Given the description of an element on the screen output the (x, y) to click on. 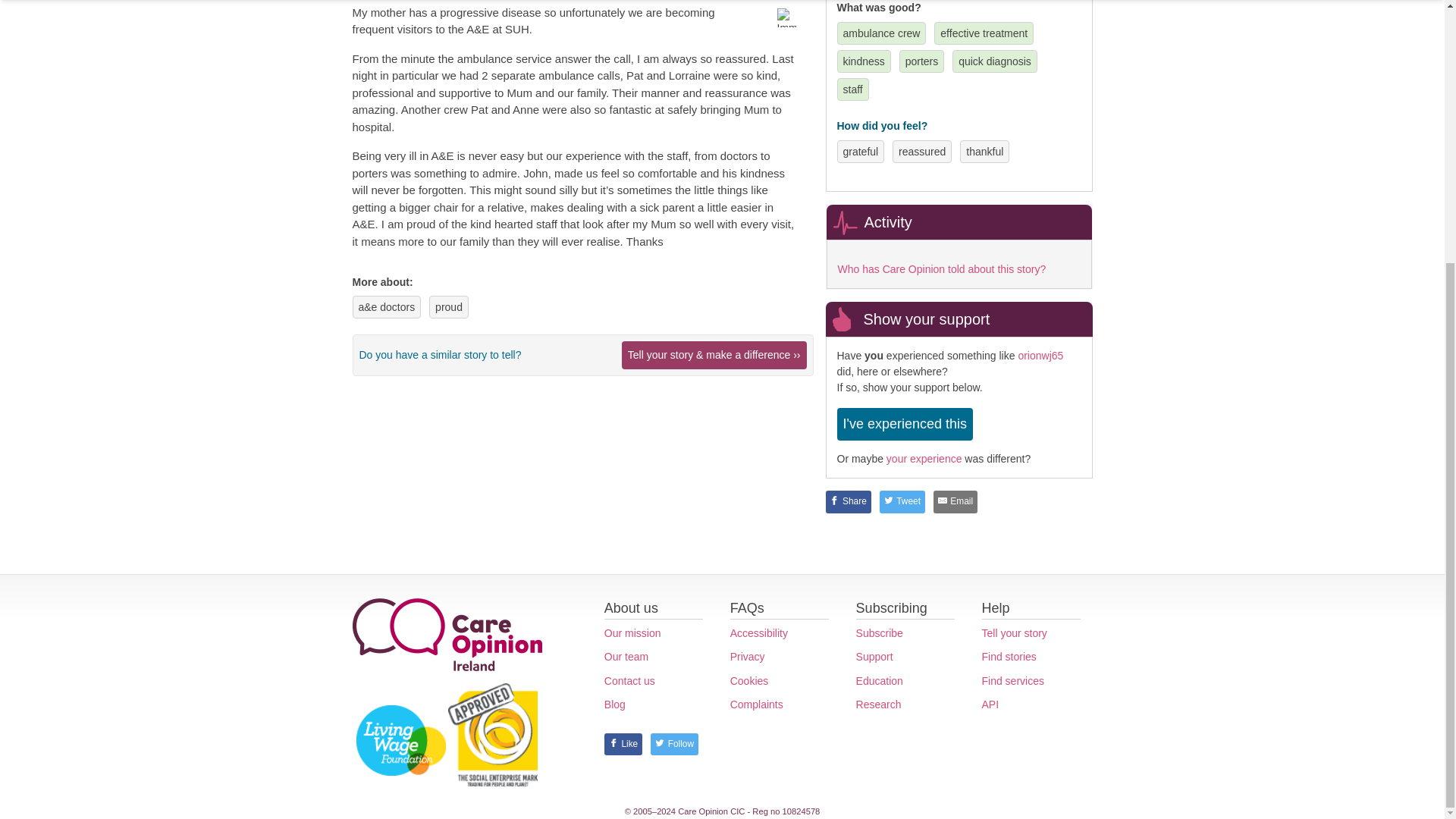
Proudly a Living Wage employer (400, 740)
Email (954, 501)
thankful (984, 151)
Tweet (901, 501)
I've experienced this (905, 423)
your experience (924, 458)
effective treatment (983, 33)
Share (847, 501)
kindness (864, 60)
grateful (861, 151)
ambulance crew (881, 33)
quick diagnosis (994, 60)
staff (853, 89)
Who has Care Opinion told about this story? (941, 268)
orionwj65 (1039, 355)
